Given the description of an element on the screen output the (x, y) to click on. 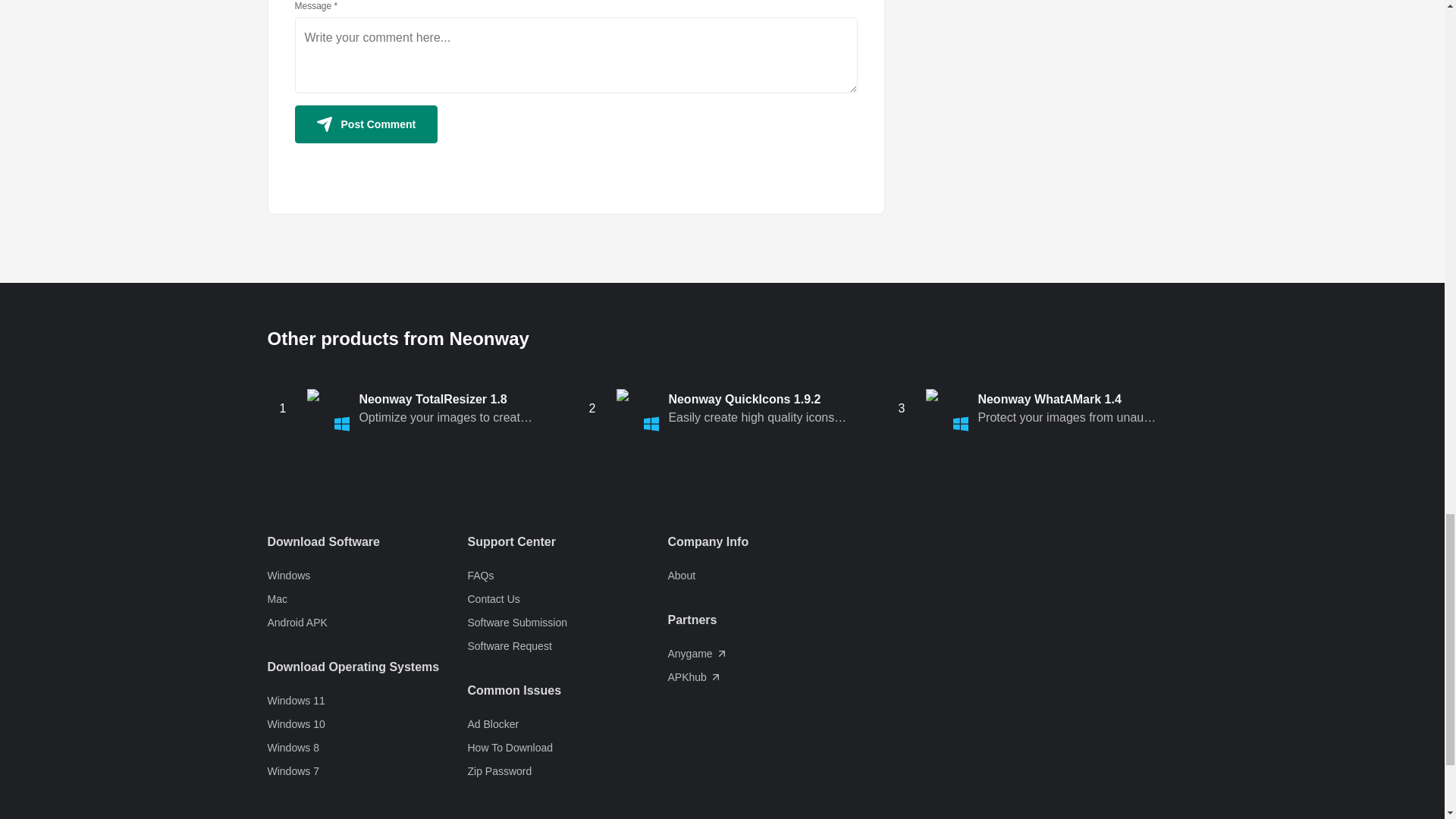
Windows (366, 575)
Post Comment (366, 123)
